Given the description of an element on the screen output the (x, y) to click on. 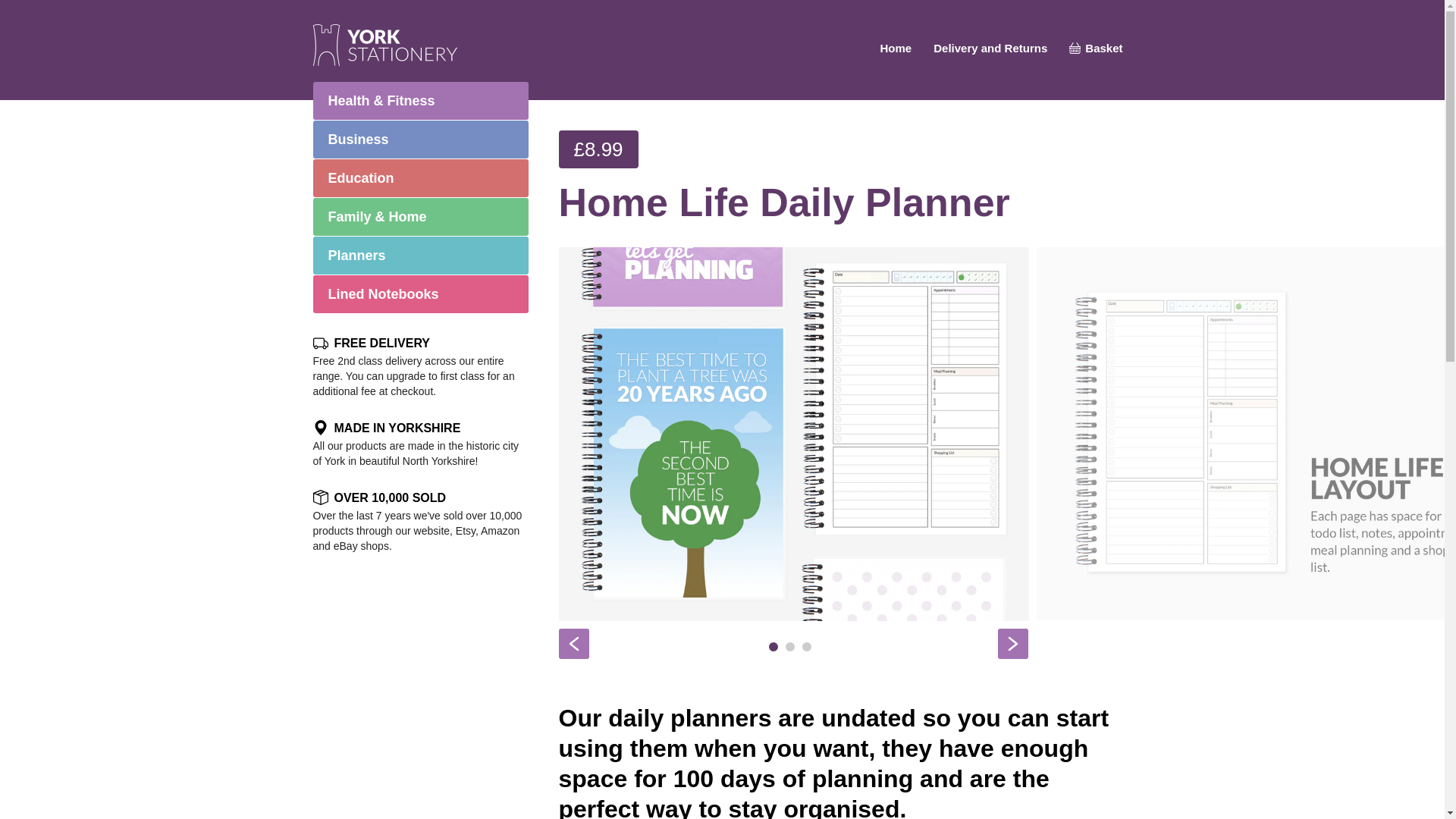
Basket (1095, 48)
1 (772, 646)
Home (895, 48)
Previous (572, 643)
Next (1012, 643)
Delivery and Returns (990, 48)
3 (806, 646)
2 (790, 646)
